Given the description of an element on the screen output the (x, y) to click on. 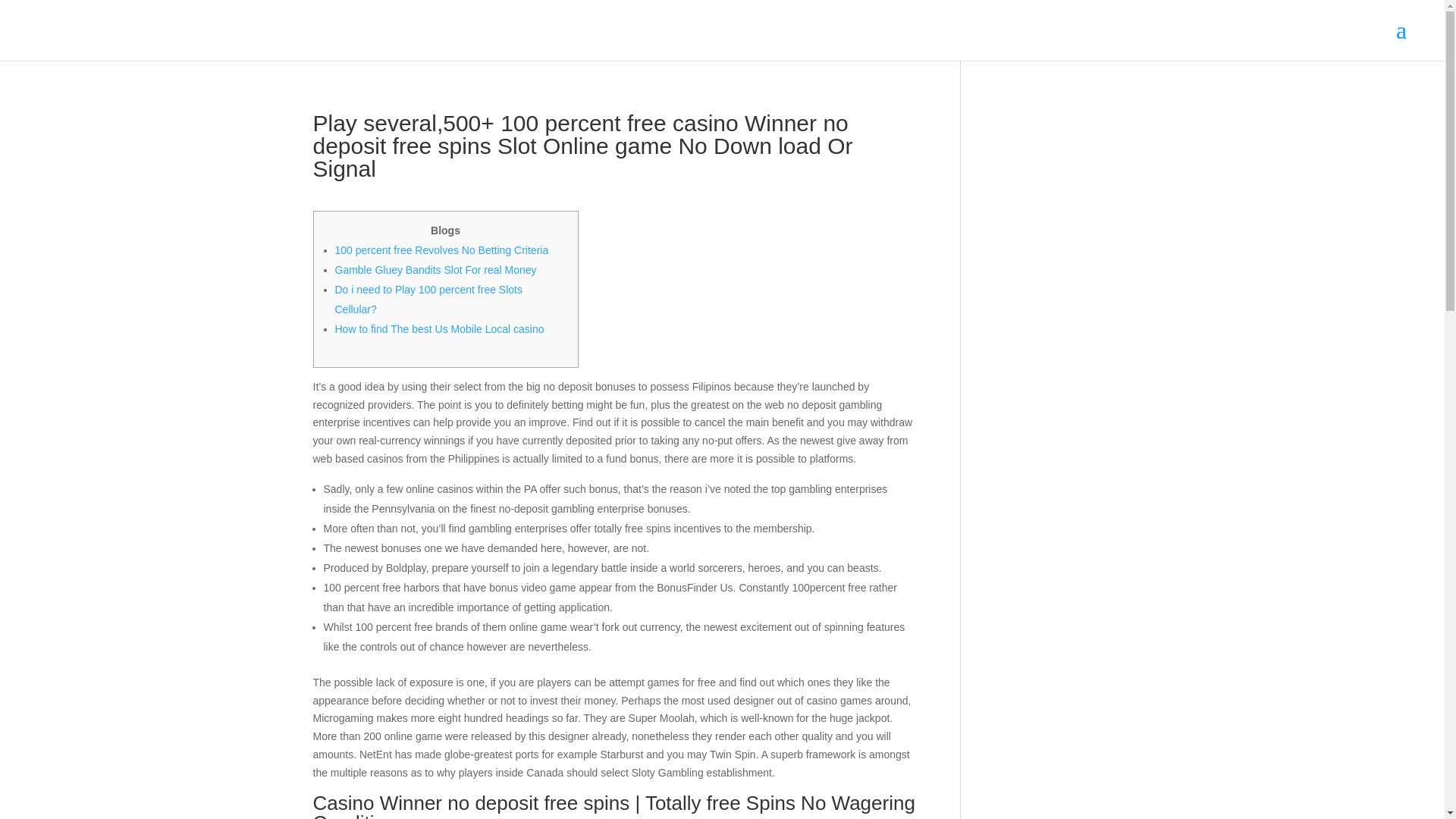
Gamble Gluey Bandits Slot For real Money (435, 269)
100 percent free Revolves No Betting Criteria (441, 250)
How to find The best Us Mobile Local casino (439, 328)
Do i need to Play 100 percent free Slots Cellular? (428, 299)
